Given the description of an element on the screen output the (x, y) to click on. 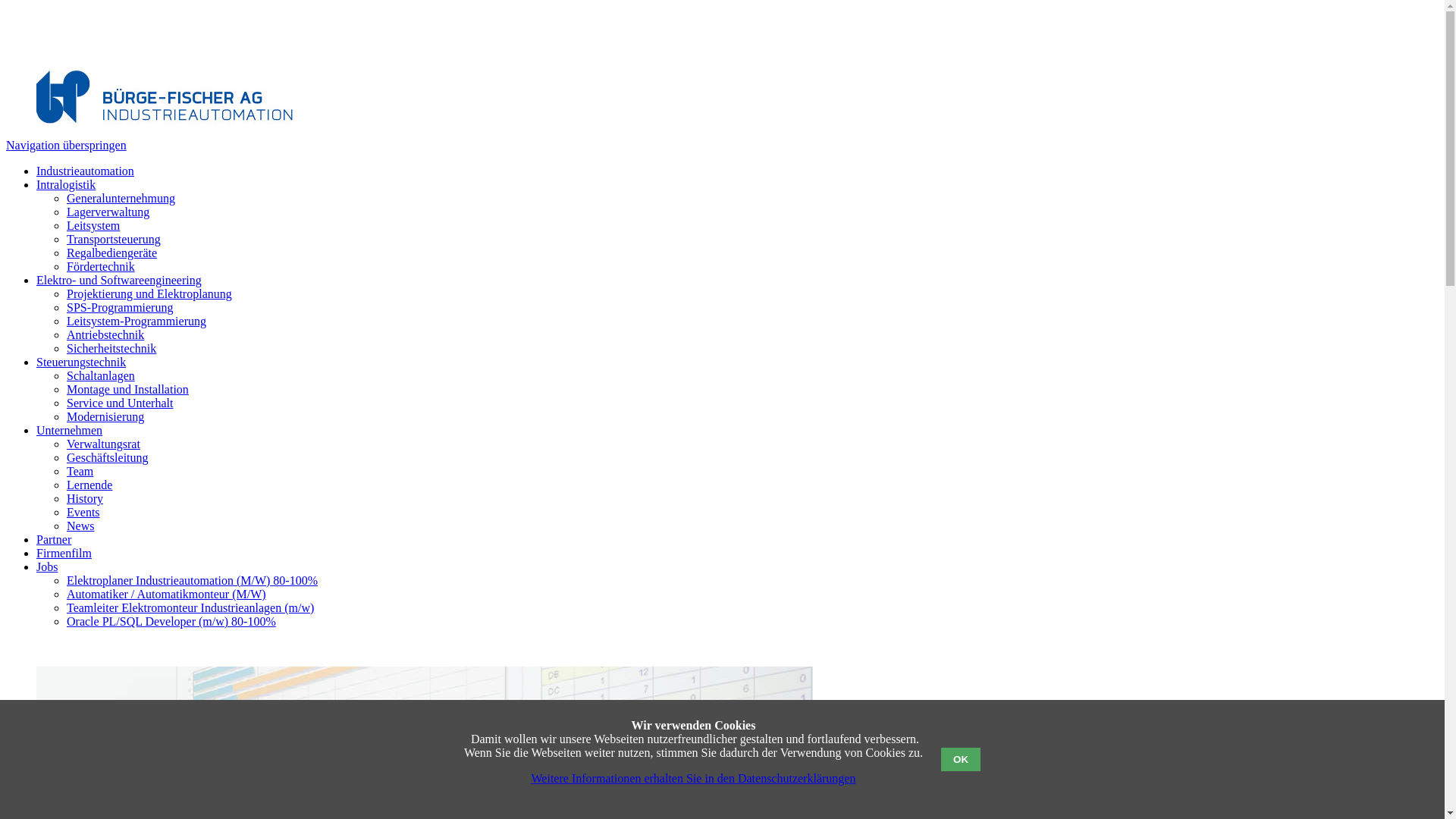
Service und Unterhalt Element type: text (119, 402)
Firmenfilm Element type: text (63, 552)
Team Element type: text (79, 470)
Leitsystem Element type: text (92, 225)
Leitsystem-Programmierung Element type: text (136, 320)
  Element type: text (7, 646)
Transportsteuerung Element type: text (113, 238)
Elektro- und Softwareengineering Element type: text (118, 279)
Industrieautomation Element type: text (85, 170)
News Element type: text (80, 525)
Sicherheitstechnik Element type: text (111, 348)
Partner Element type: text (53, 539)
Jobs Element type: text (46, 566)
Elektroplaner Industrieautomation (M/W) 80-100% Element type: text (191, 580)
Teamleiter Elektromonteur Industrieanlagen (m/w) Element type: text (189, 607)
Schaltanlagen Element type: text (100, 375)
Verwaltungsrat Element type: text (103, 443)
Generalunternehmung Element type: text (120, 197)
Lernende Element type: text (89, 484)
SPS-Programmierung Element type: text (119, 307)
Unternehmen Element type: text (69, 429)
Projektierung und Elektroplanung Element type: text (149, 293)
Intralogistik Element type: text (65, 184)
History Element type: text (84, 498)
Modernisierung Element type: text (105, 416)
Steuerungstechnik Element type: text (80, 361)
Oracle PL/SQL Developer (m/w) 80-100% Element type: text (171, 621)
Lagerverwaltung Element type: text (107, 211)
Montage und Installation Element type: text (127, 388)
OK Element type: text (960, 759)
Antriebstechnik Element type: text (105, 334)
Events Element type: text (83, 511)
Automatiker / Automatikmonteur (M/W) Element type: text (166, 593)
